Given the description of an element on the screen output the (x, y) to click on. 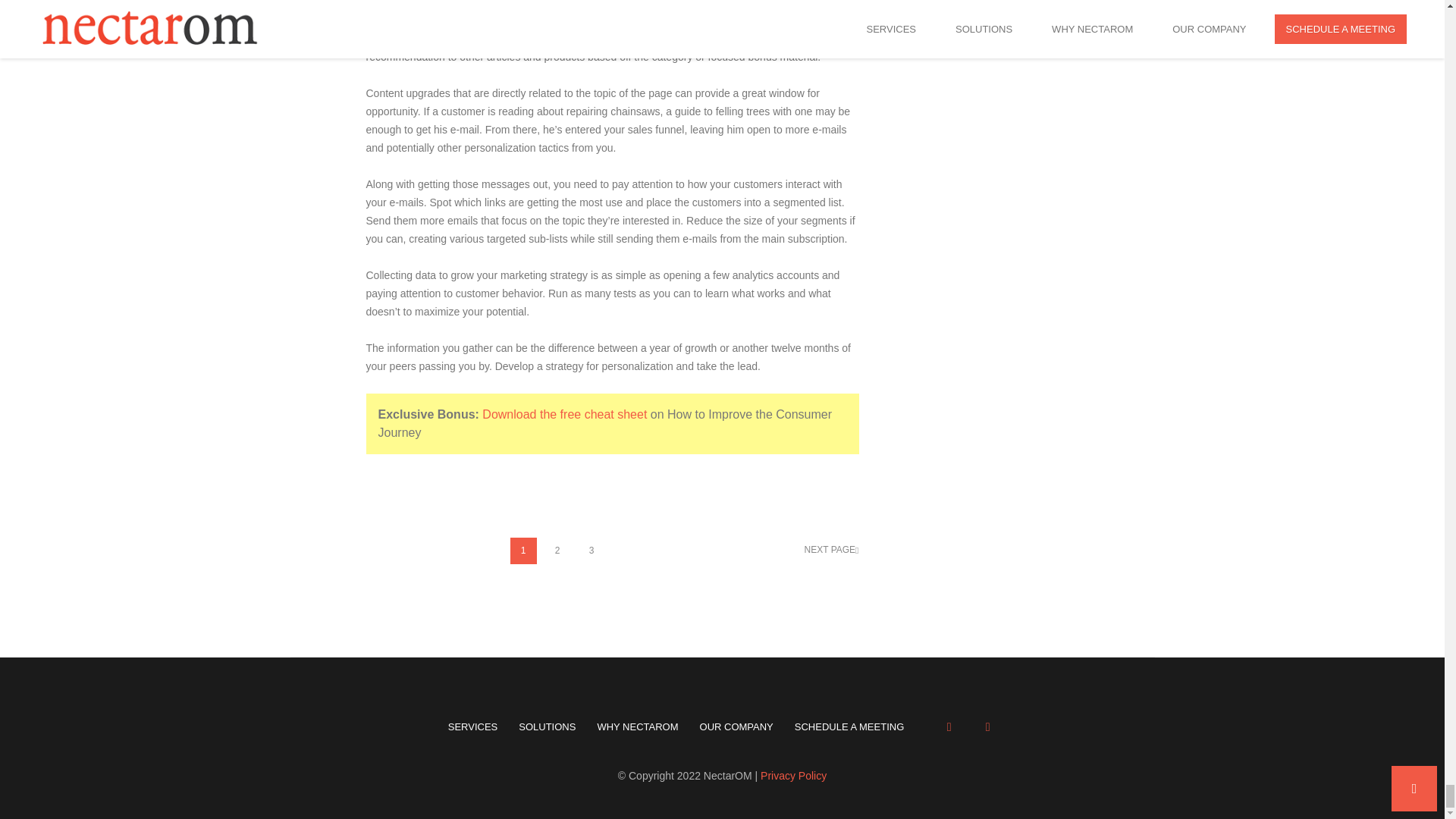
Twitter (949, 726)
LinkedIN (987, 726)
